Given the description of an element on the screen output the (x, y) to click on. 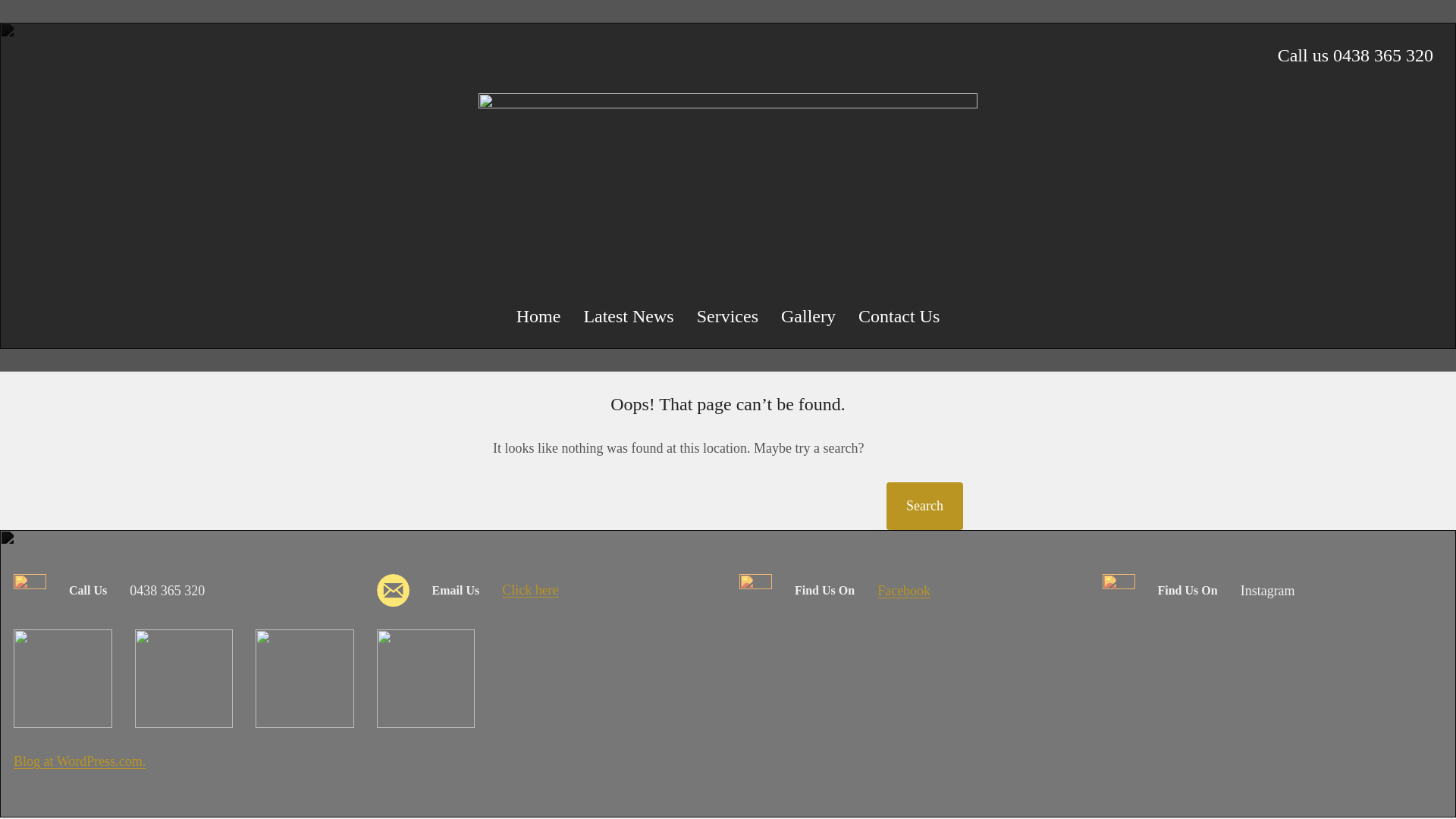
Click here Element type: text (530, 589)
Home Element type: text (538, 315)
Contact Us Element type: text (898, 315)
Facebook Element type: text (903, 590)
Search Element type: text (924, 506)
Services Element type: text (727, 315)
Blog at WordPress.com. Element type: text (79, 760)
Gallery Element type: text (808, 315)
Latest News Element type: text (628, 315)
